Given the description of an element on the screen output the (x, y) to click on. 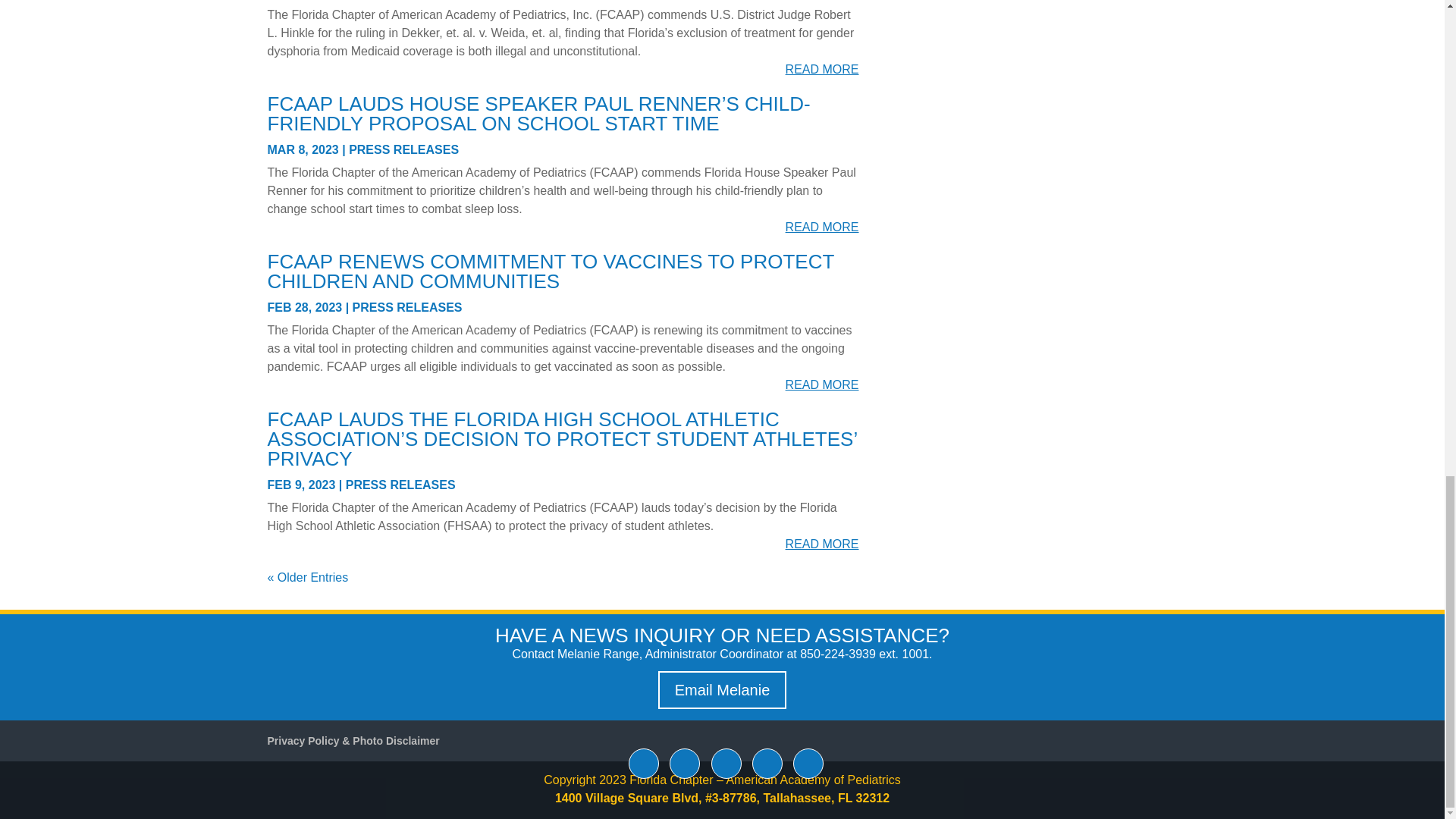
Instagram (808, 763)
YouTube (767, 763)
LinkedIn (726, 763)
Facebook (643, 763)
Twitter (684, 763)
